Given the description of an element on the screen output the (x, y) to click on. 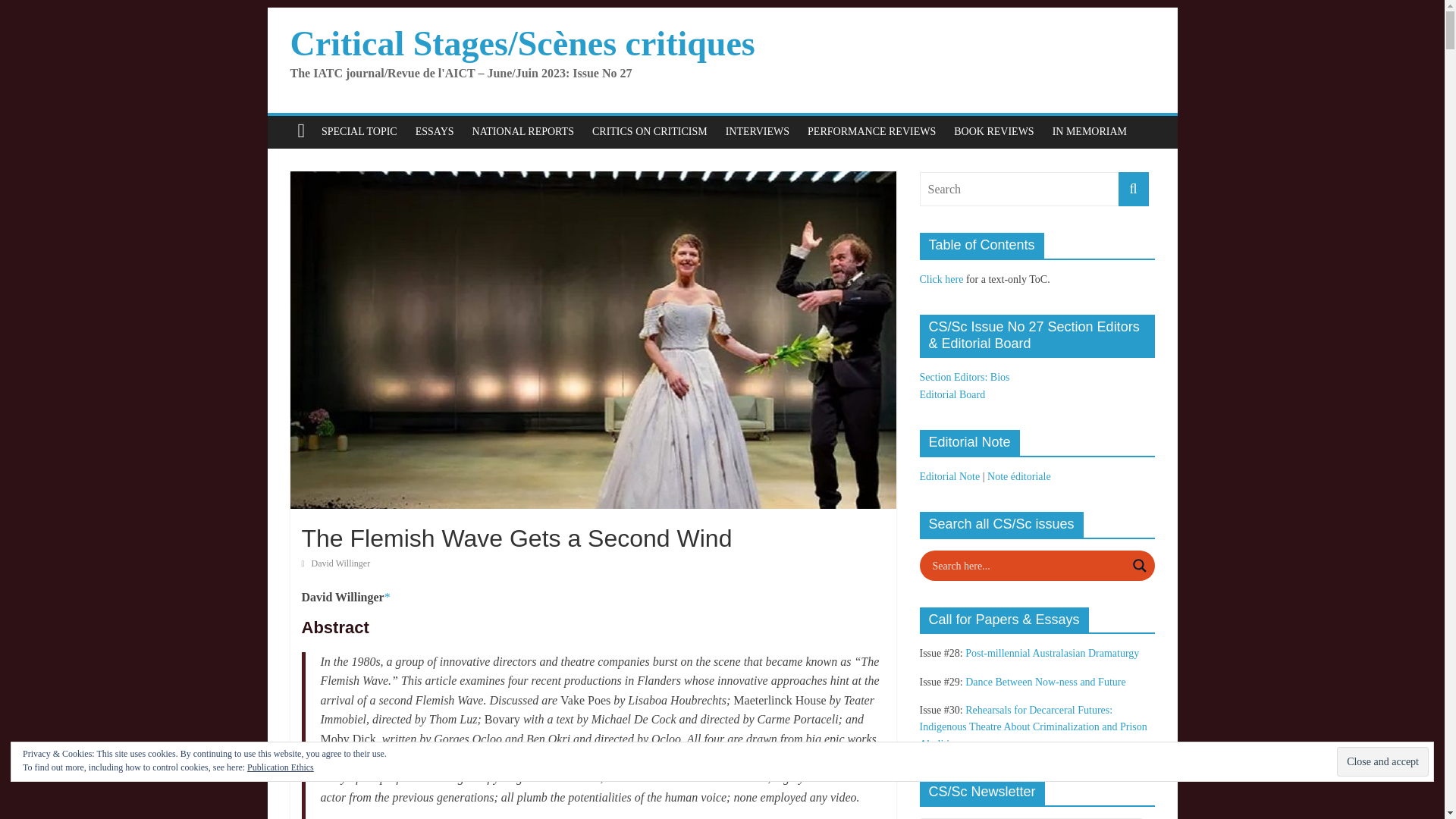
IN MEMORIAM (1089, 132)
ESSAYS (434, 132)
PERFORMANCE REVIEWS (870, 132)
David Willinger (341, 562)
INTERVIEWS (756, 132)
SPECIAL TOPIC (359, 132)
Close and accept (1382, 761)
Dance Between Now-ness and Future (1045, 681)
Post-millennial Australasian Dramaturgy (1051, 653)
